Given the description of an element on the screen output the (x, y) to click on. 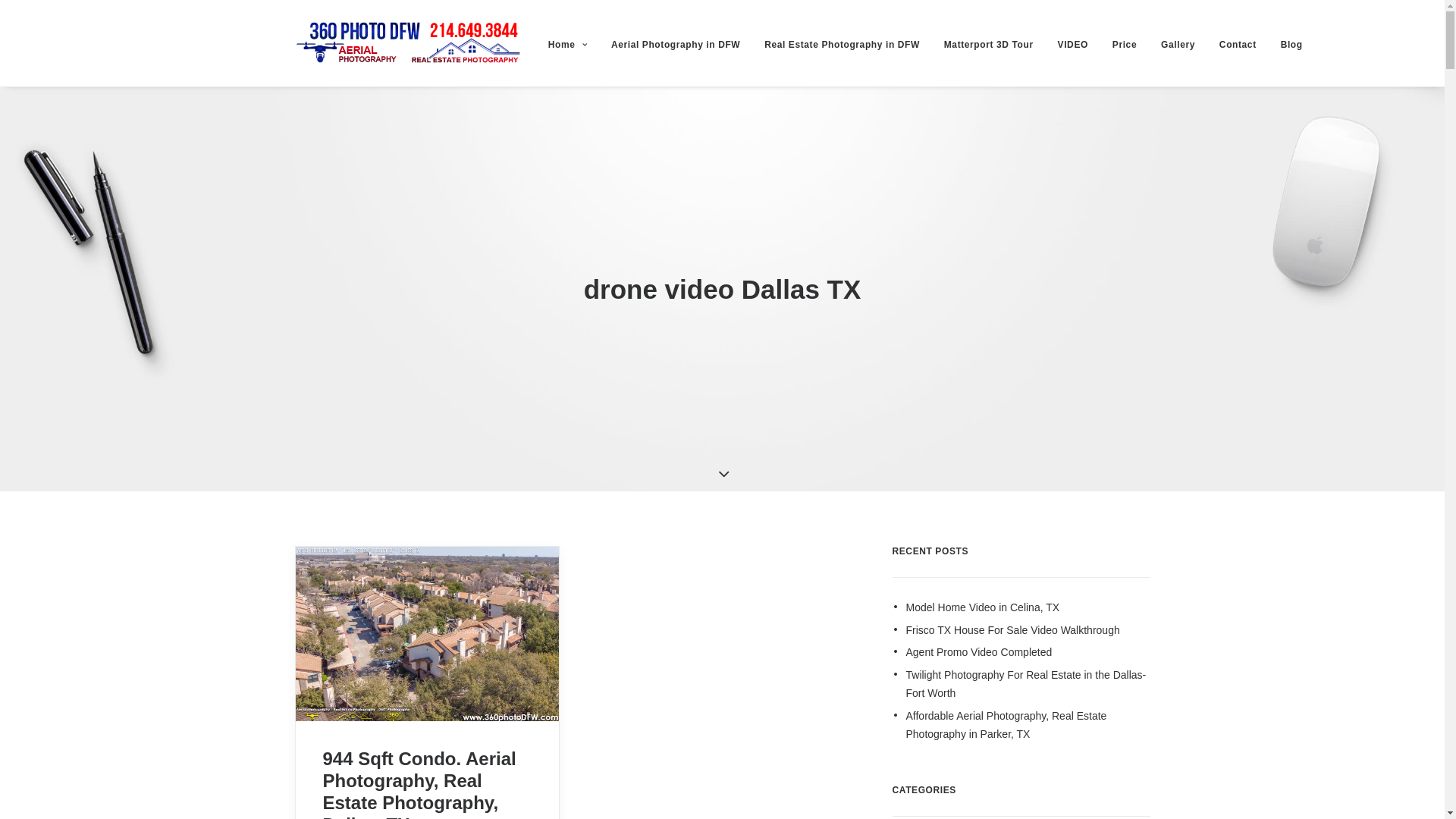
Frisco TX House For Sale Video Walkthrough Element type: text (1027, 630)
Home Element type: text (572, 43)
Model Home Video in Celina, TX Element type: text (1027, 607)
Gallery Element type: text (1177, 43)
Real Estate Photography in DFW Element type: text (841, 43)
Price Element type: text (1124, 43)
Agent Promo Video Completed Element type: text (1027, 652)
Blog Element type: text (1286, 43)
Contact Element type: text (1237, 43)
Aerial Photography in DFW Element type: text (675, 43)
VIDEO Element type: text (1072, 43)
Matterport 3D Tour Element type: text (988, 43)
